Given the description of an element on the screen output the (x, y) to click on. 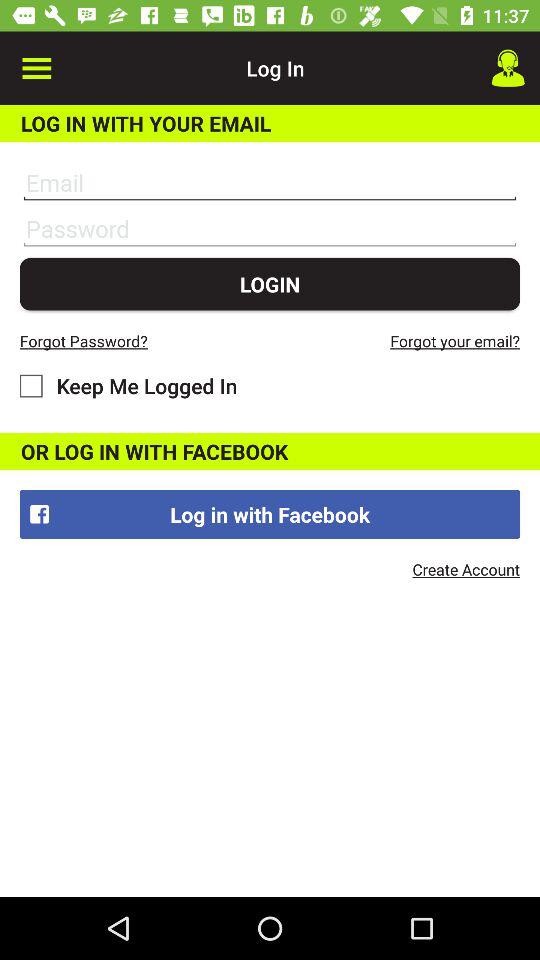
choose icon next to log in item (508, 67)
